Given the description of an element on the screen output the (x, y) to click on. 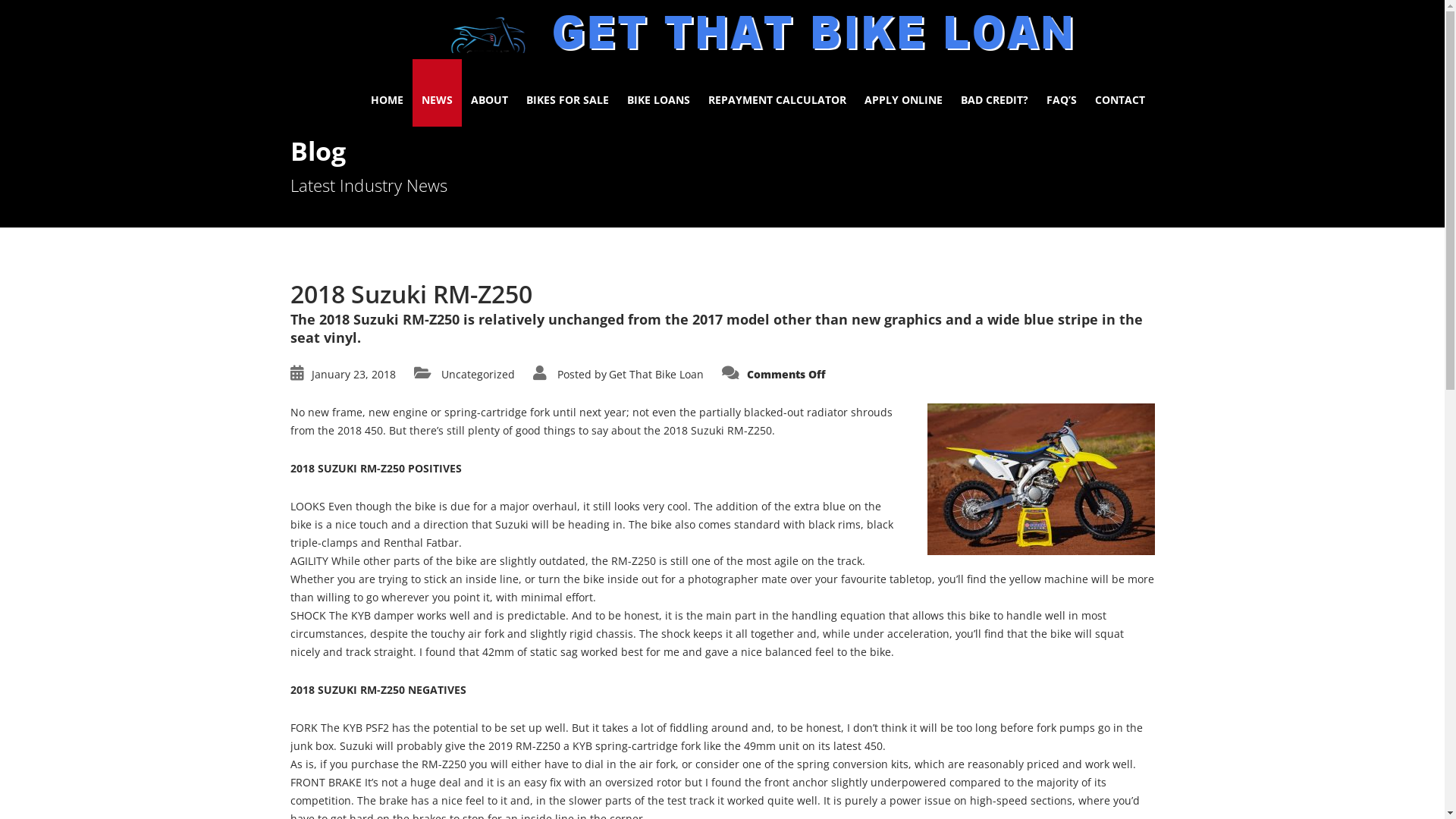
CONTACT Element type: text (1119, 92)
BIKES FOR SALE Element type: text (567, 92)
APPLY ONLINE Element type: text (903, 92)
NEWS Element type: text (436, 92)
Uncategorized Element type: text (477, 374)
BIKE LOANS Element type: text (657, 92)
BAD CREDIT? Element type: text (993, 92)
REPAYMENT CALCULATOR Element type: text (777, 92)
Get That Bike Loan Element type: text (655, 374)
ABOUT Element type: text (488, 92)
HOME Element type: text (385, 92)
